Given the description of an element on the screen output the (x, y) to click on. 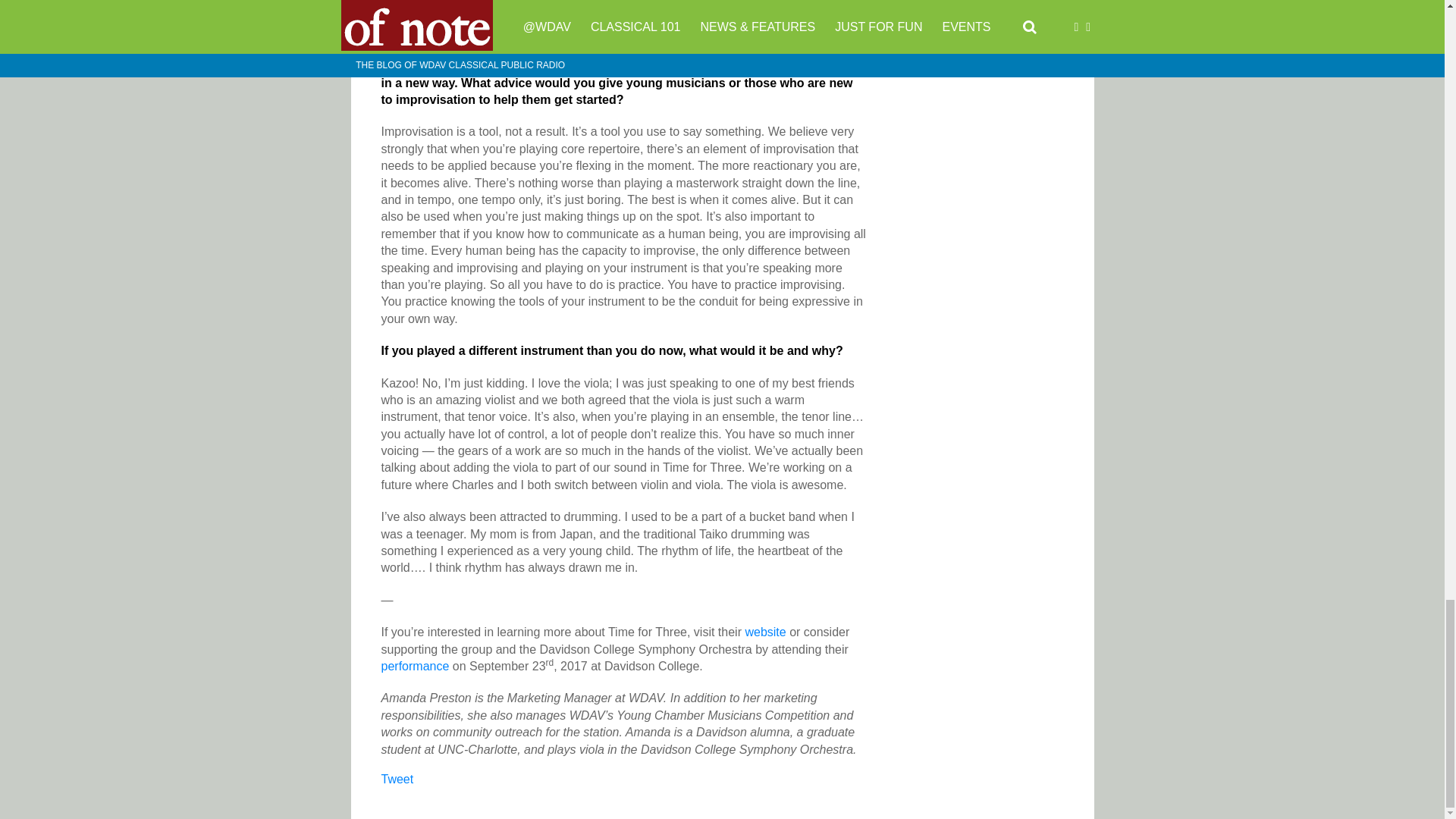
performance (414, 666)
website (765, 631)
Tweet (396, 779)
